Given the description of an element on the screen output the (x, y) to click on. 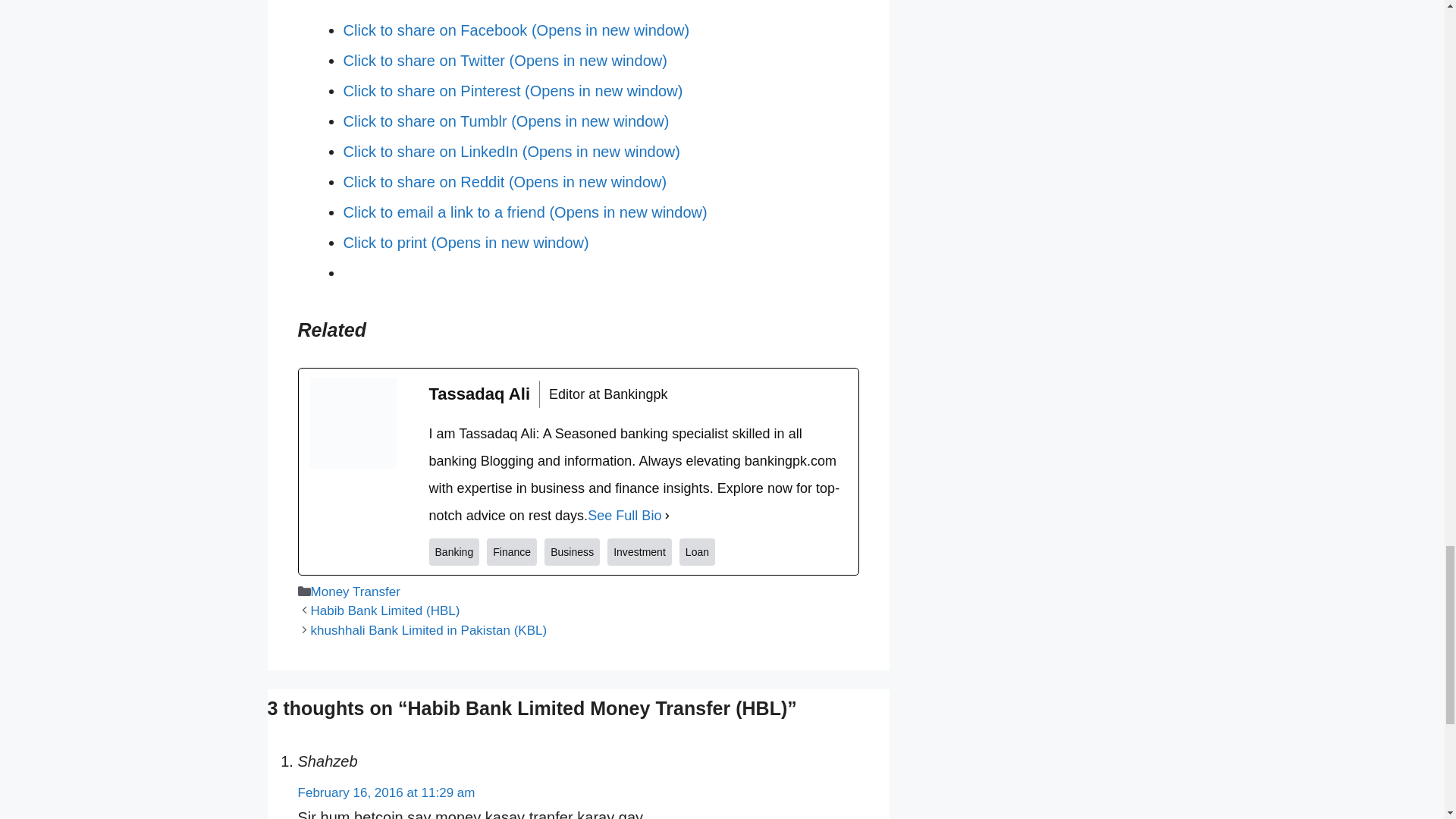
Click to share on Tumblr (505, 121)
Click to share on Reddit (504, 181)
Click to share on Twitter (504, 60)
Click to share on Pinterest (512, 90)
Click to share on LinkedIn (510, 151)
Click to share on Facebook (515, 30)
Click to print (465, 242)
Click to email a link to a friend (524, 211)
